Given the description of an element on the screen output the (x, y) to click on. 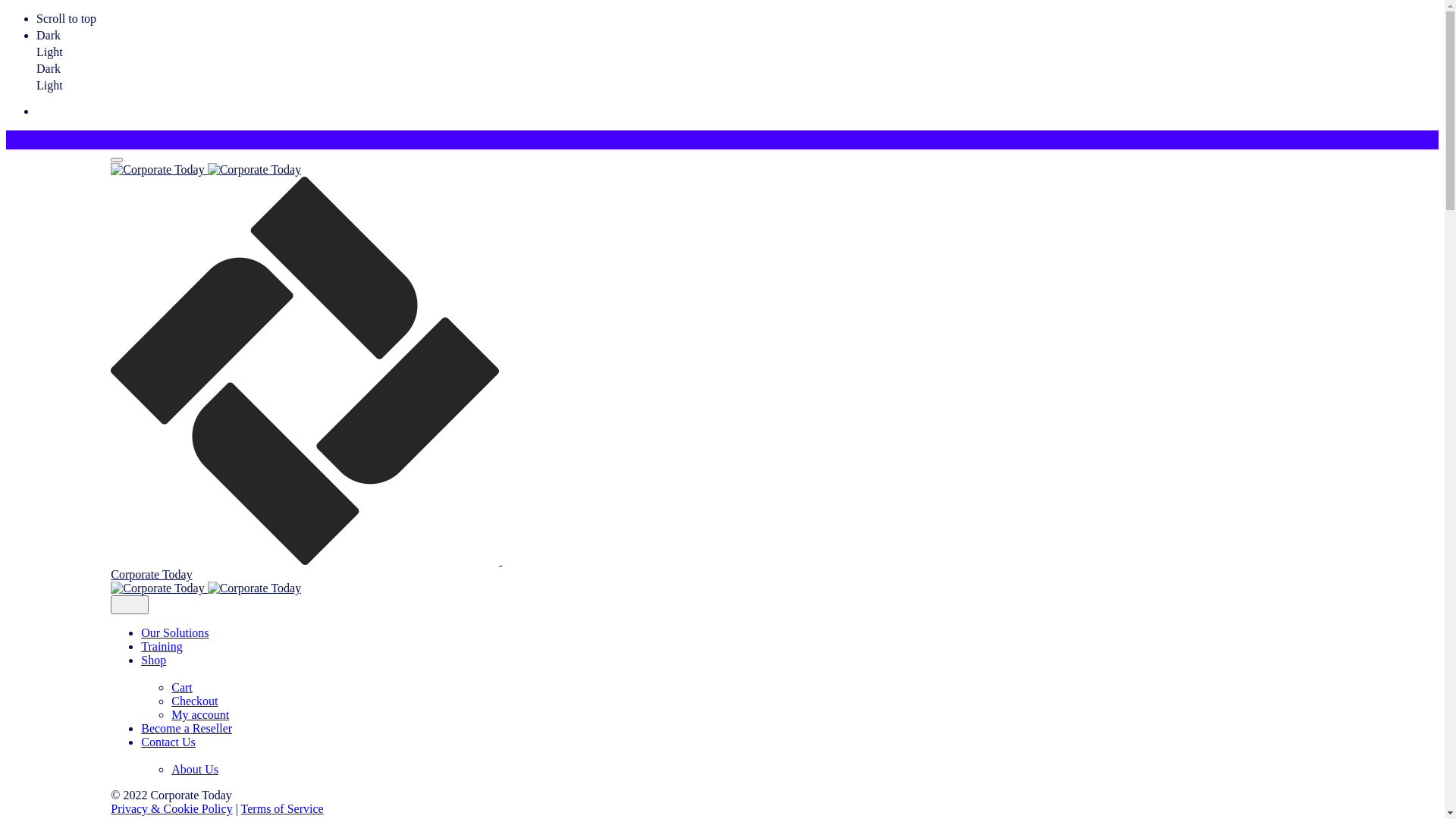
Checkout Element type: text (194, 700)
Shop Element type: text (618, 666)
Training Element type: text (161, 646)
Contact Us Element type: text (618, 748)
About Us Element type: text (194, 768)
Become a Reseller Element type: text (186, 727)
My account Element type: text (200, 714)
Corporate Today Element type: text (603, 379)
Our Solutions Element type: text (174, 632)
Scroll to top Element type: text (737, 18)
Privacy & Cookie Policy Element type: text (171, 808)
Terms of Service Element type: text (282, 808)
Cart Element type: text (181, 686)
